Given the description of an element on the screen output the (x, y) to click on. 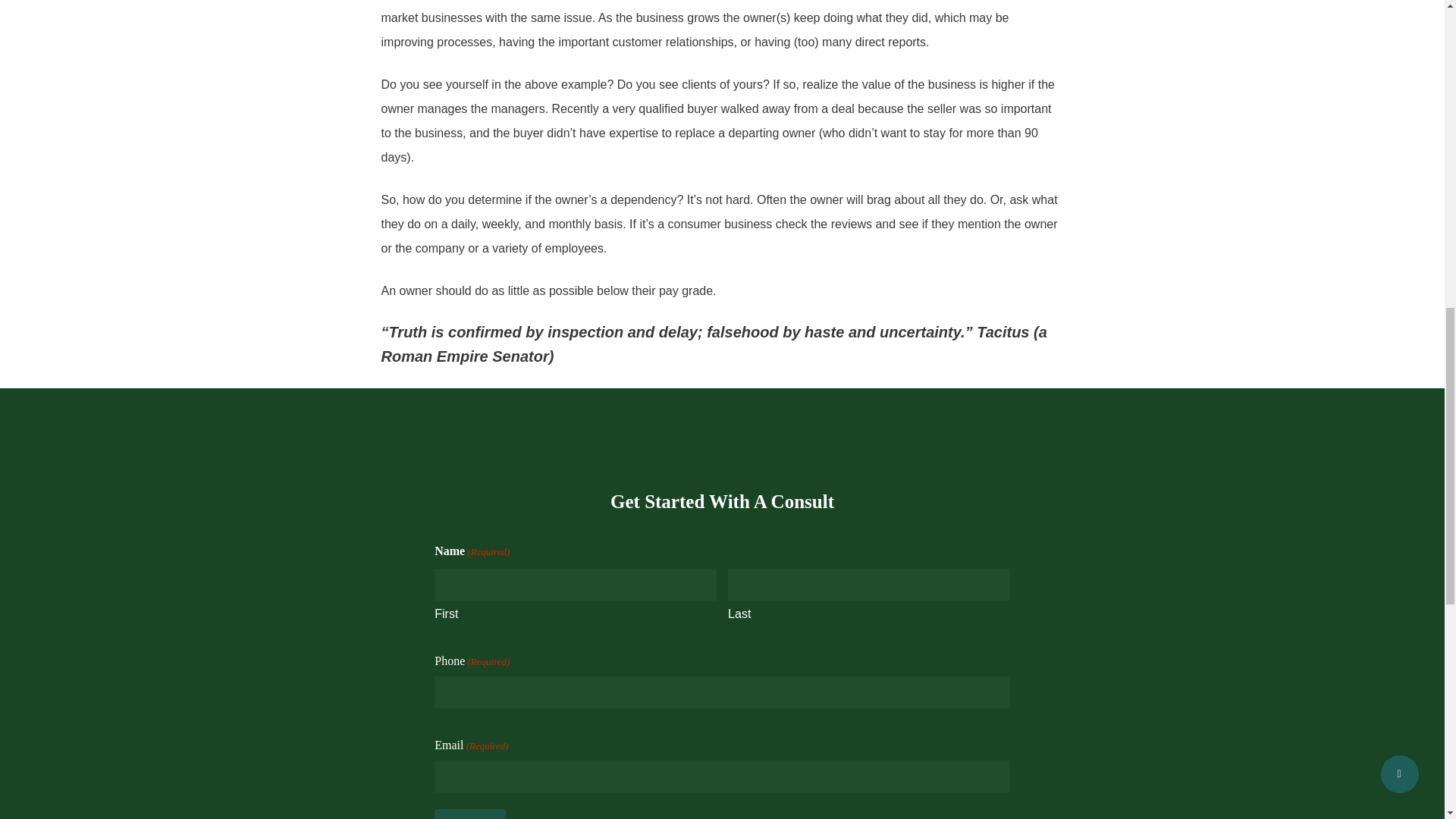
Submit (469, 814)
Submit (469, 814)
